Given the description of an element on the screen output the (x, y) to click on. 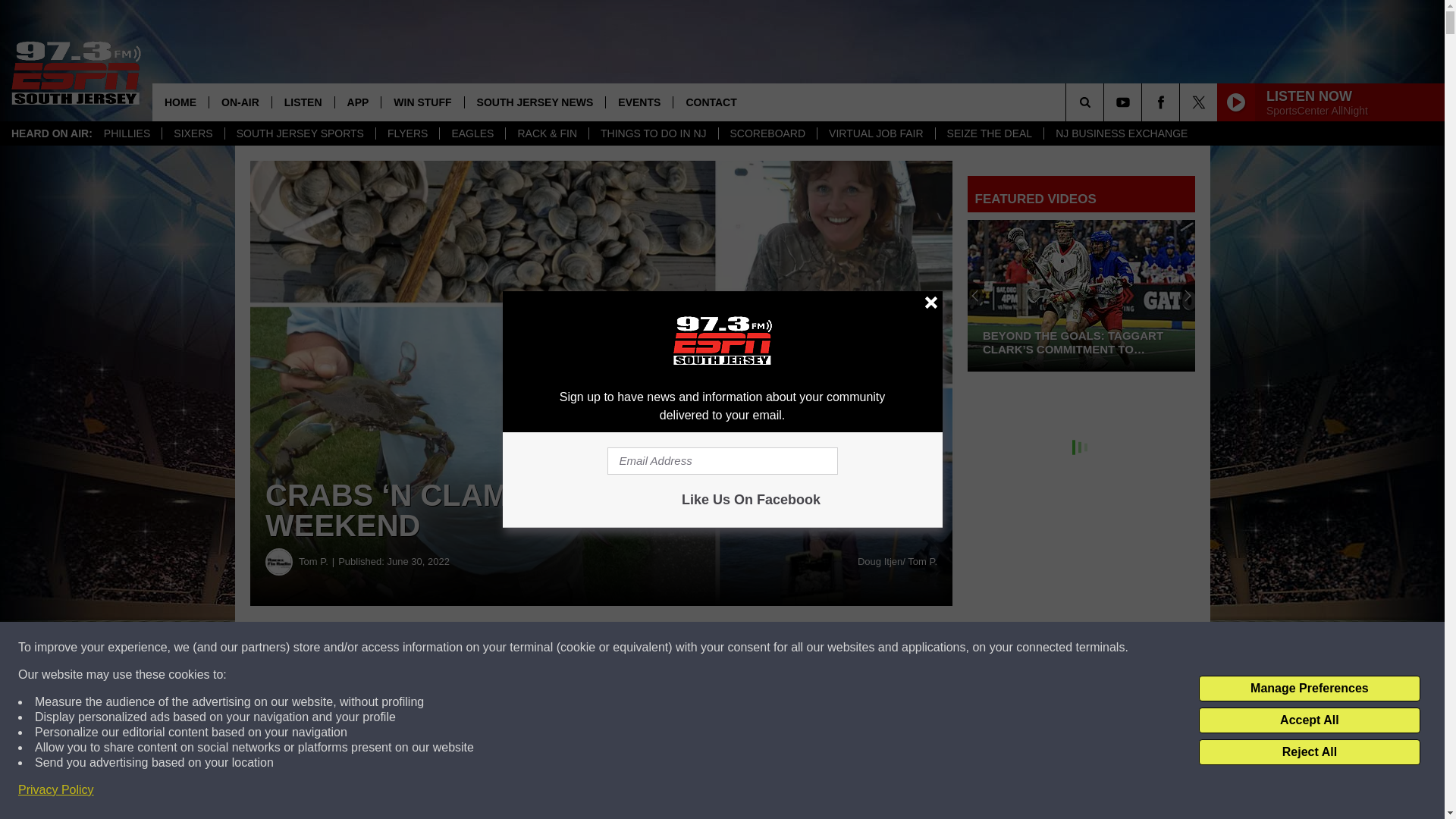
SCOREBOARD (766, 133)
EAGLES (472, 133)
Manage Preferences (1309, 688)
APP (357, 102)
Email Address (722, 461)
LISTEN (302, 102)
FLYERS (407, 133)
SEARCH (1106, 102)
Reject All (1309, 751)
VIRTUAL JOB FAIR (875, 133)
HOME (180, 102)
Accept All (1309, 720)
THINGS TO DO IN NJ (652, 133)
Share on Twitter (741, 647)
SEIZE THE DEAL (988, 133)
